Given the description of an element on the screen output the (x, y) to click on. 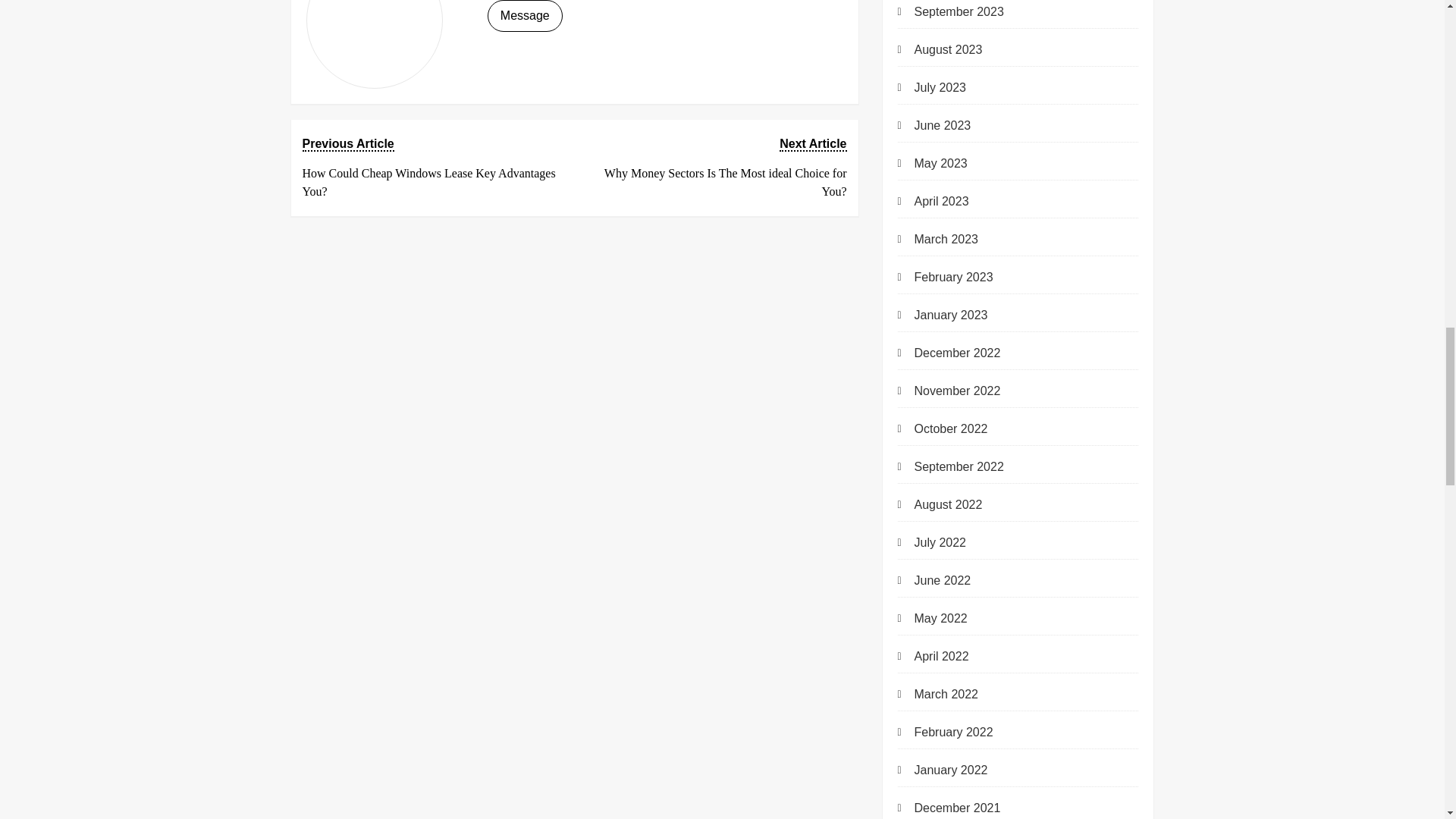
Message (524, 15)
